Given the description of an element on the screen output the (x, y) to click on. 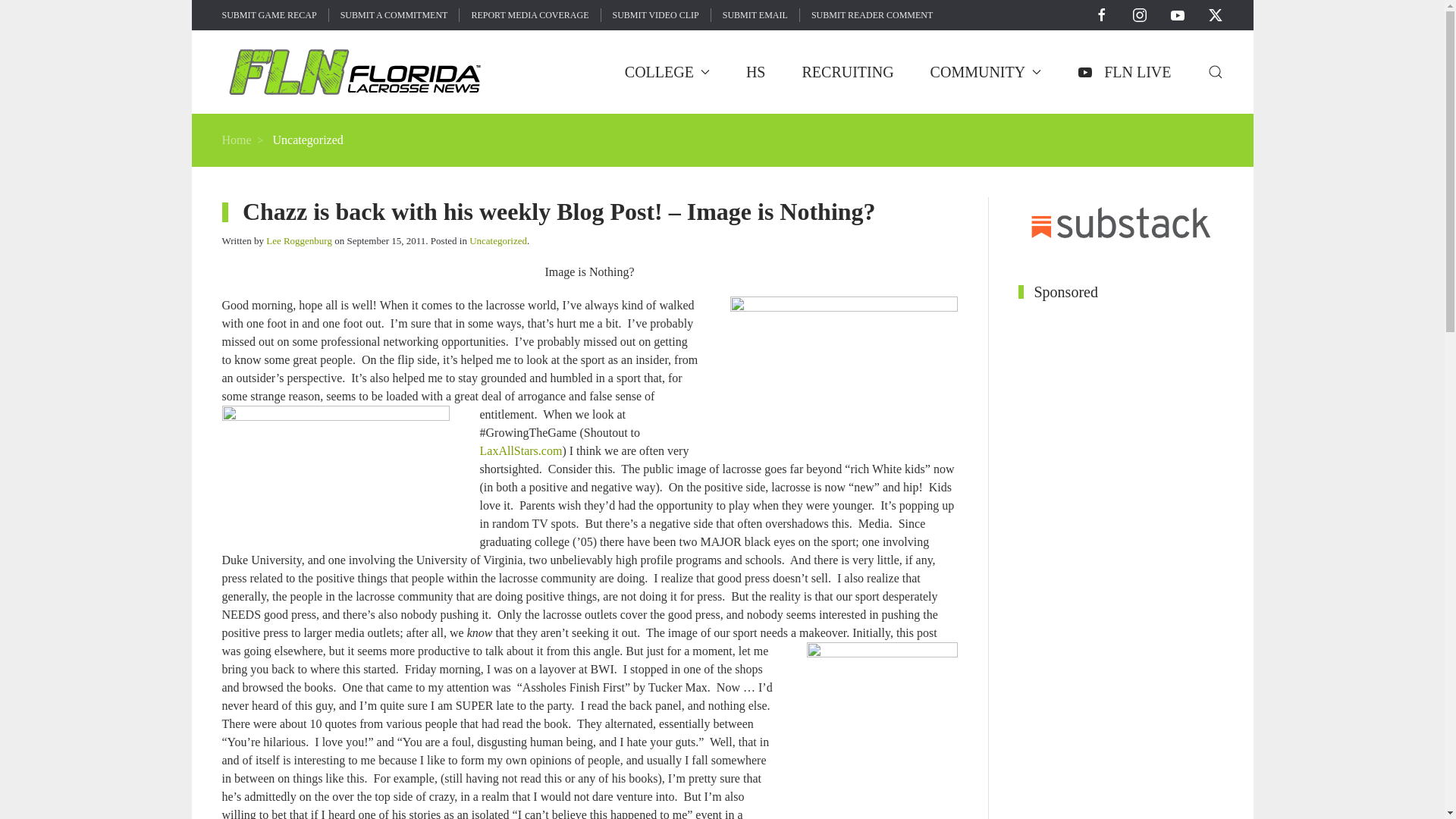
SUBMIT GAME RECAP (268, 15)
COLLEGE (667, 71)
FLN LIVE (1123, 71)
SUBMIT VIDEO CLIP (655, 15)
FLN Livestream (1123, 71)
SUBMIT READER COMMENT (871, 15)
COMMUNITY (986, 71)
REPORT MEDIA COVERAGE (529, 15)
Chazz 3L (334, 474)
SUBMIT EMAIL (754, 15)
